Given the description of an element on the screen output the (x, y) to click on. 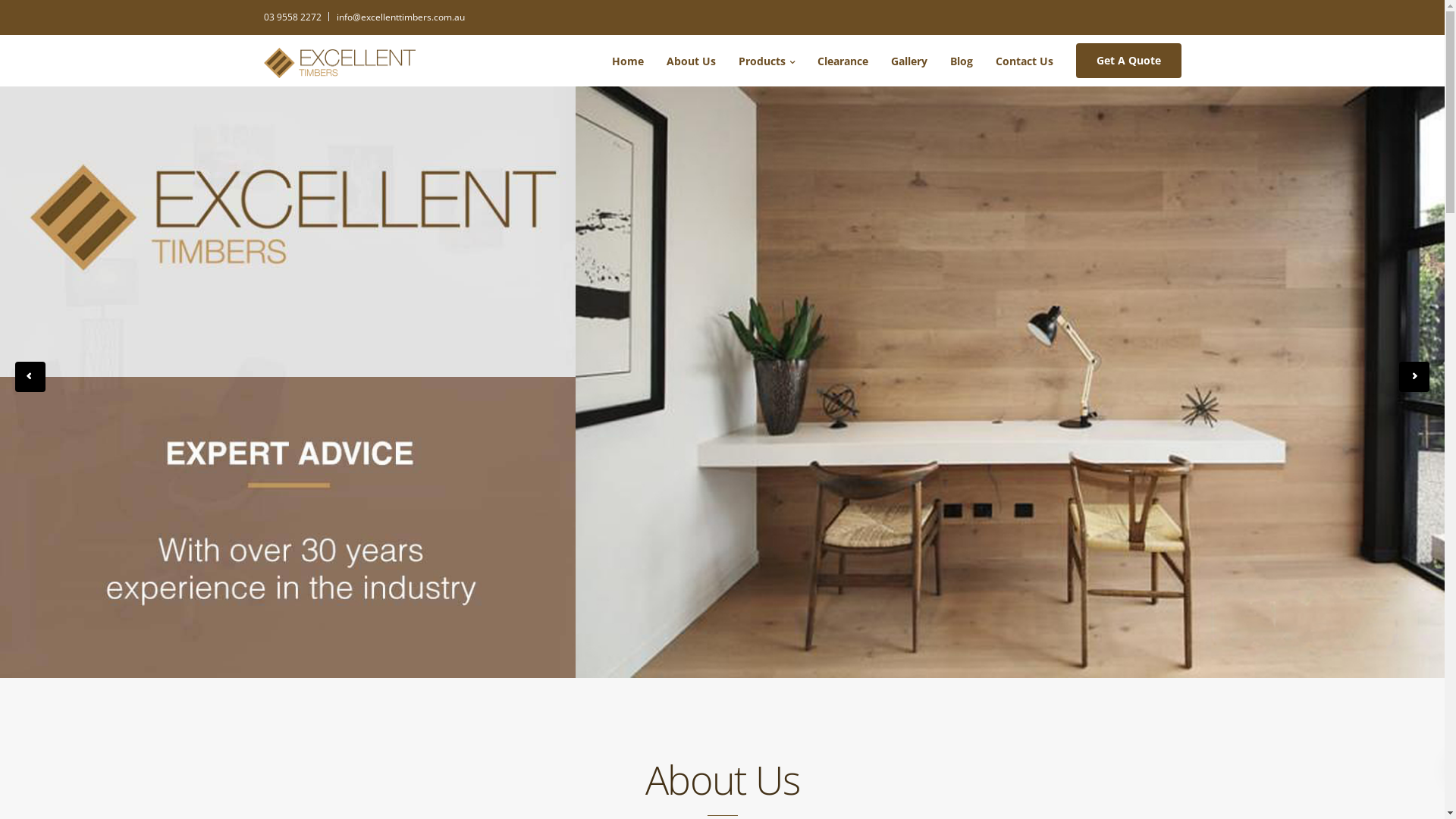
Clearance Element type: text (841, 60)
Home Element type: text (627, 60)
Gallery Element type: text (908, 60)
info@excellenttimbers.com.au Element type: text (400, 16)
03 9558 2272 Element type: text (296, 16)
Contact Us Element type: text (1024, 60)
About Us Element type: text (691, 60)
Blog Element type: text (961, 60)
Products Element type: text (765, 60)
Get A Quote Element type: text (1127, 60)
